Given the description of an element on the screen output the (x, y) to click on. 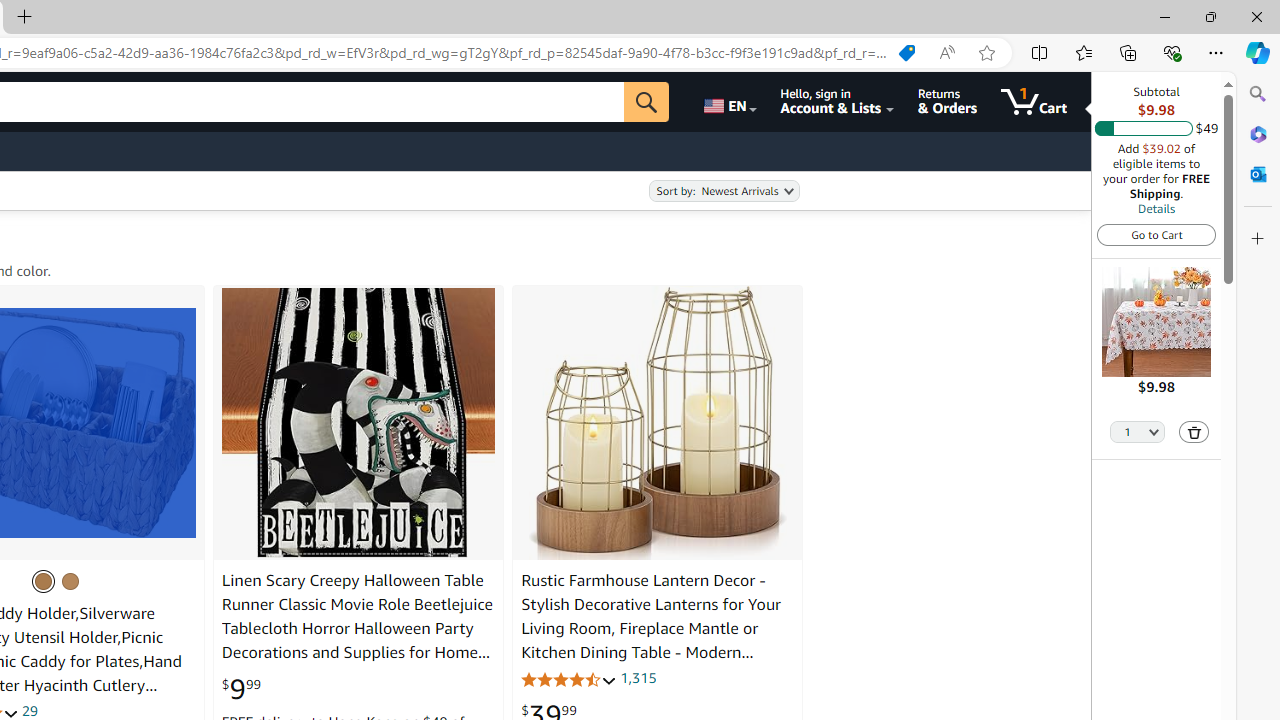
No small basket (43, 580)
Details (1156, 208)
Choose a language for shopping. (728, 101)
29 (29, 710)
Hello, sign in Account & Lists (836, 101)
